Given the description of an element on the screen output the (x, y) to click on. 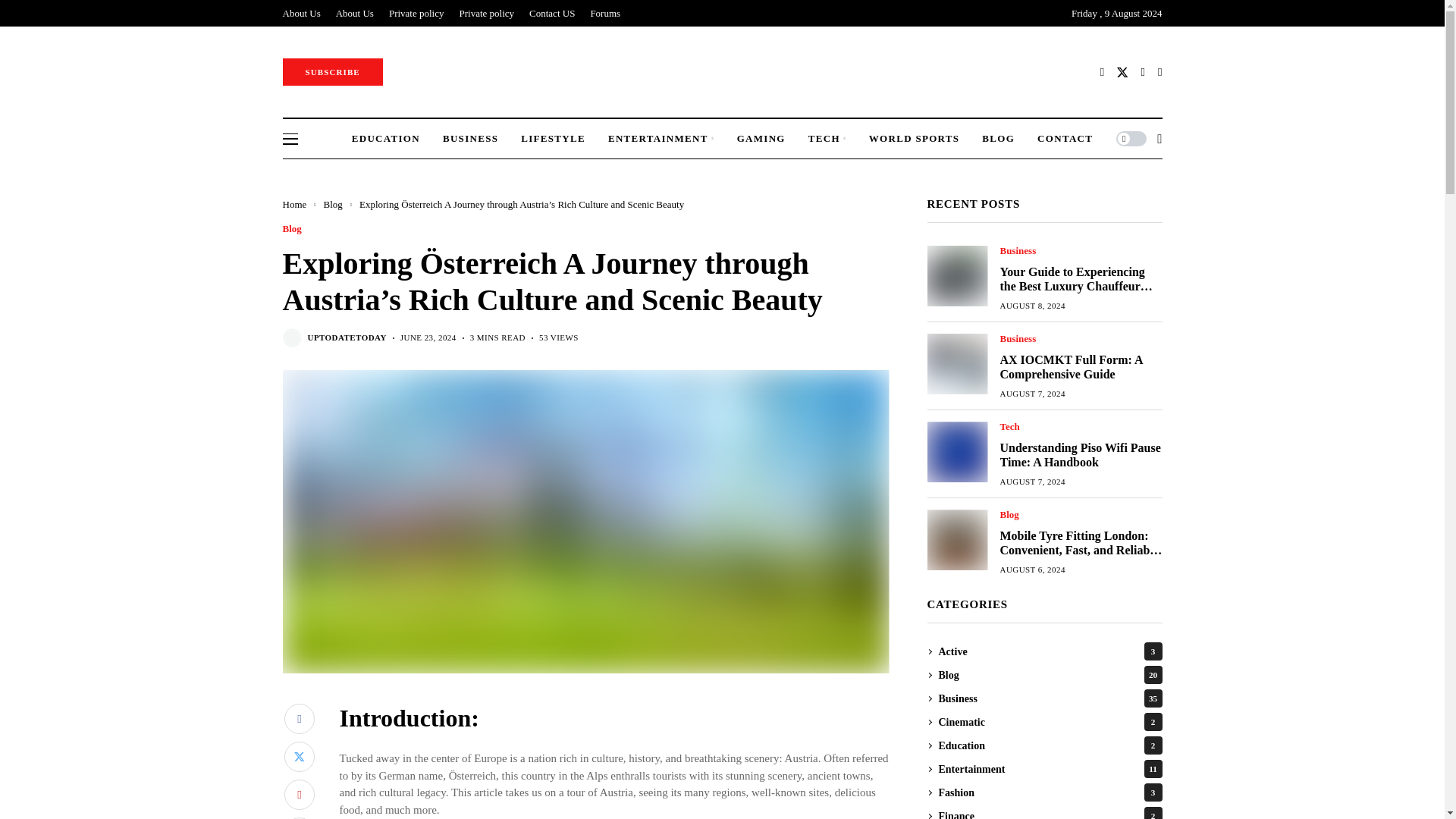
WORLD SPORTS (914, 138)
Contact US (552, 13)
Private policy (416, 13)
LIFESTYLE (553, 138)
CONTACT (1064, 138)
ENTERTAINMENT (661, 138)
GAMING (761, 138)
Posts by uptodatetoday (347, 337)
